Given the description of an element on the screen output the (x, y) to click on. 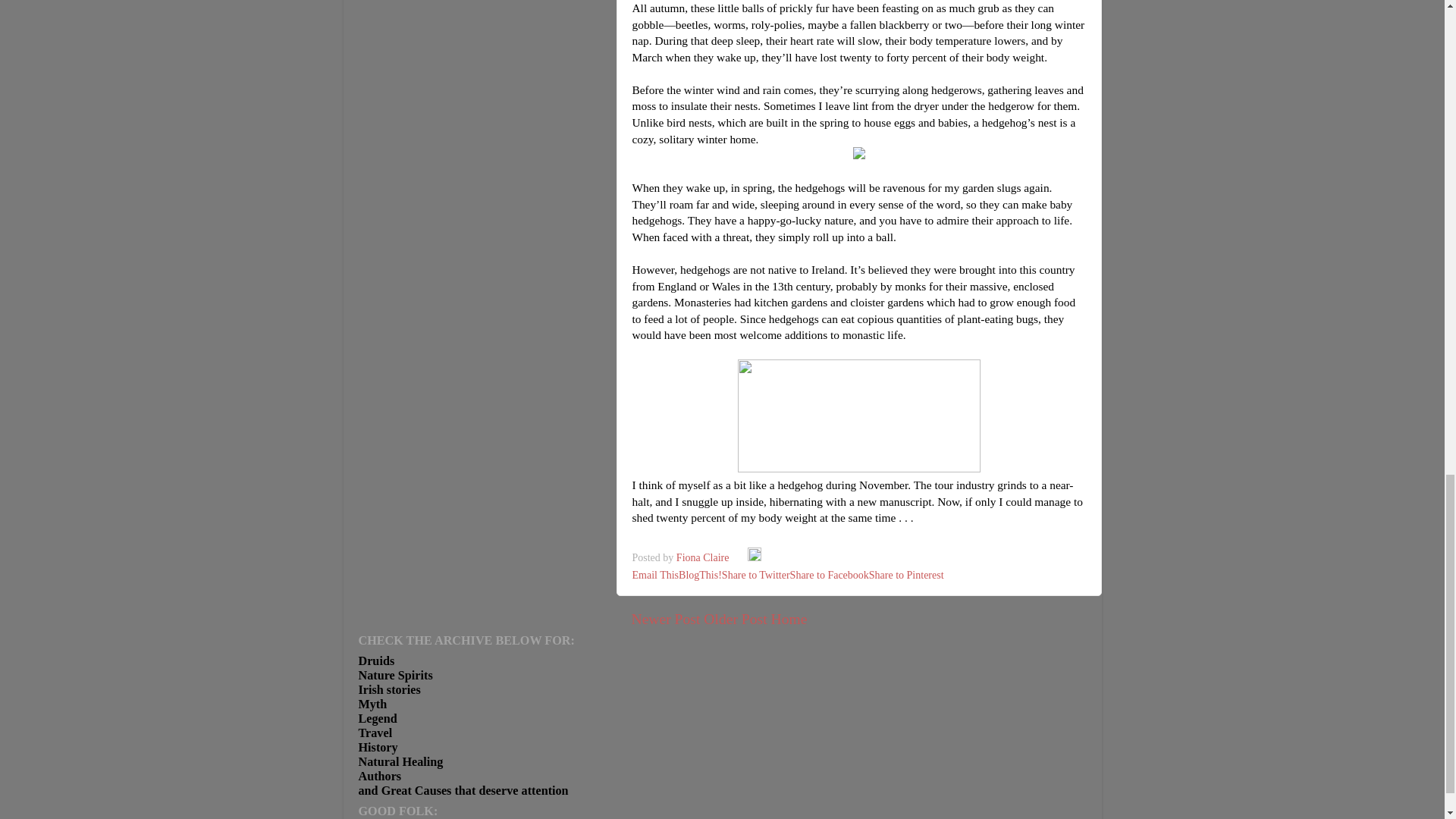
Email Post (740, 557)
Share to Pinterest (906, 574)
Share to Twitter (756, 574)
Newer Post (665, 618)
Email This (655, 574)
author profile (704, 557)
BlogThis! (700, 574)
Share to Pinterest (906, 574)
Older Post (735, 618)
Home (788, 618)
Fiona Claire (704, 557)
Share to Facebook (829, 574)
Edit Post (754, 557)
Email This (655, 574)
Newer Post (665, 618)
